Given the description of an element on the screen output the (x, y) to click on. 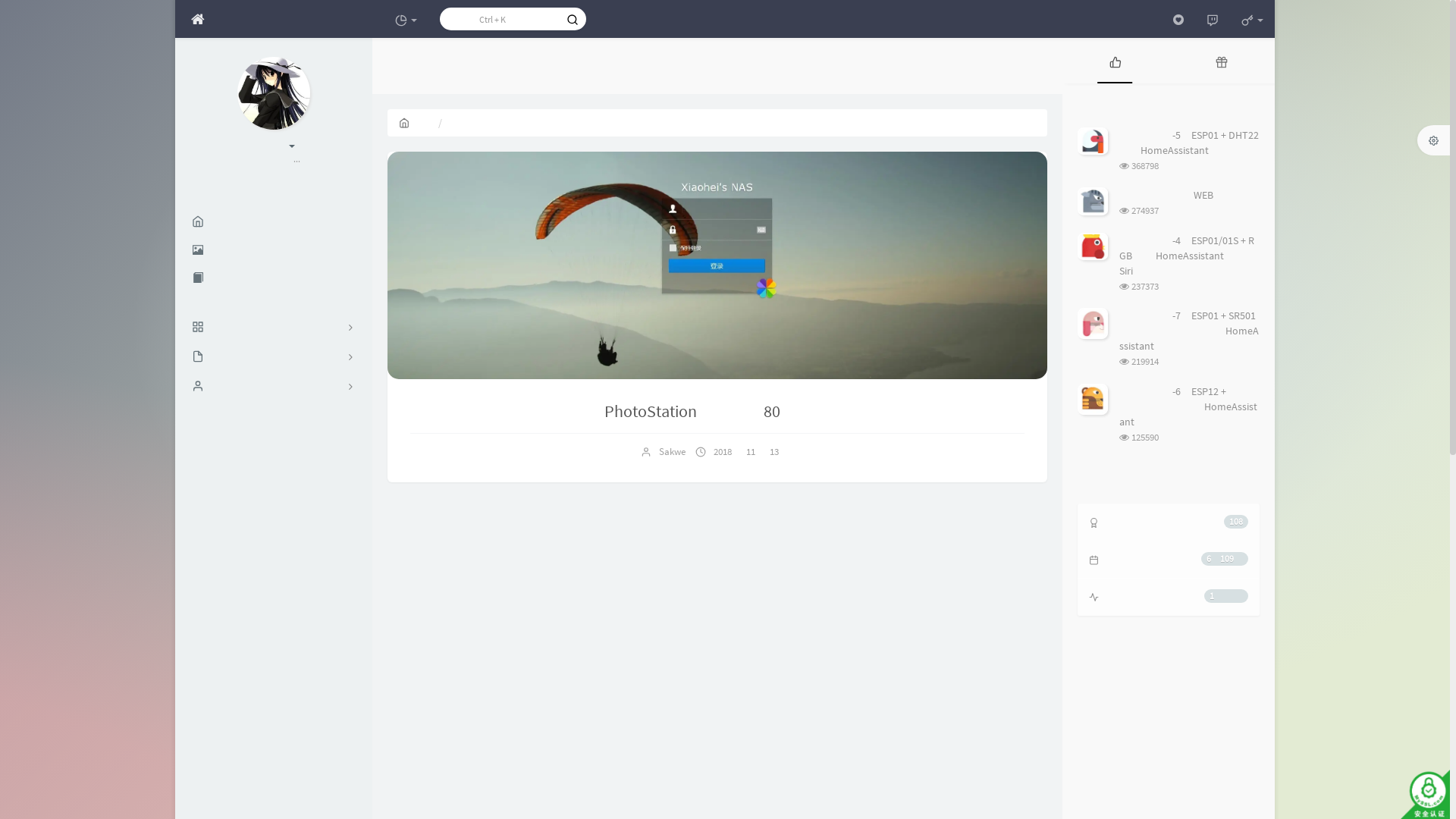
Sakwe Element type: text (671, 451)
